Given the description of an element on the screen output the (x, y) to click on. 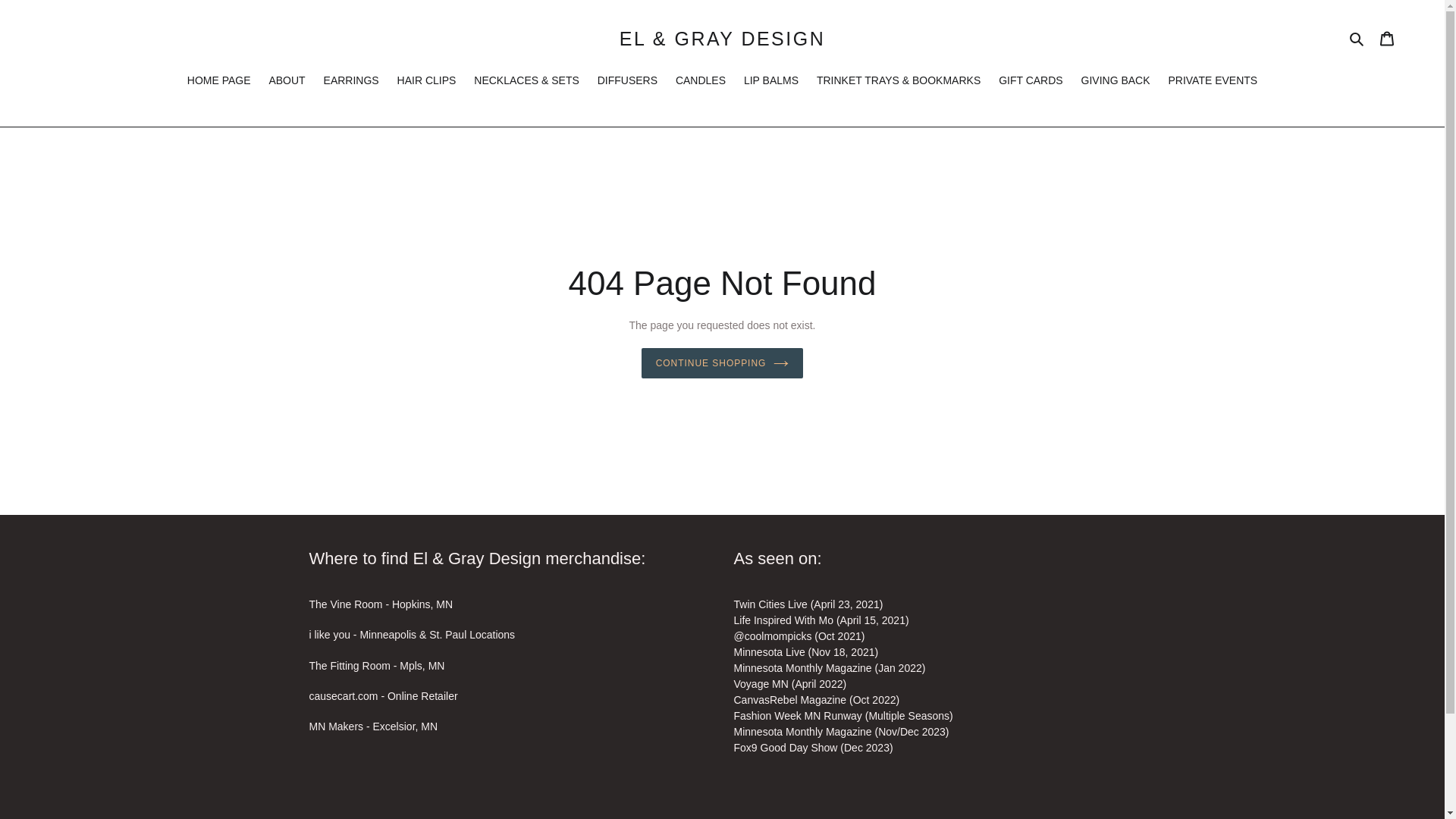
DIFFUSERS (627, 81)
HOME PAGE (219, 81)
PRIVATE EVENTS (1212, 81)
Cart (1387, 38)
GIVING BACK (1115, 81)
LIP BALMS (771, 81)
GIFT CARDS (1030, 81)
Search (1357, 37)
HAIR CLIPS (427, 81)
CONTINUE SHOPPING (722, 363)
CANDLES (700, 81)
EARRINGS (351, 81)
ABOUT (286, 81)
